Given the description of an element on the screen output the (x, y) to click on. 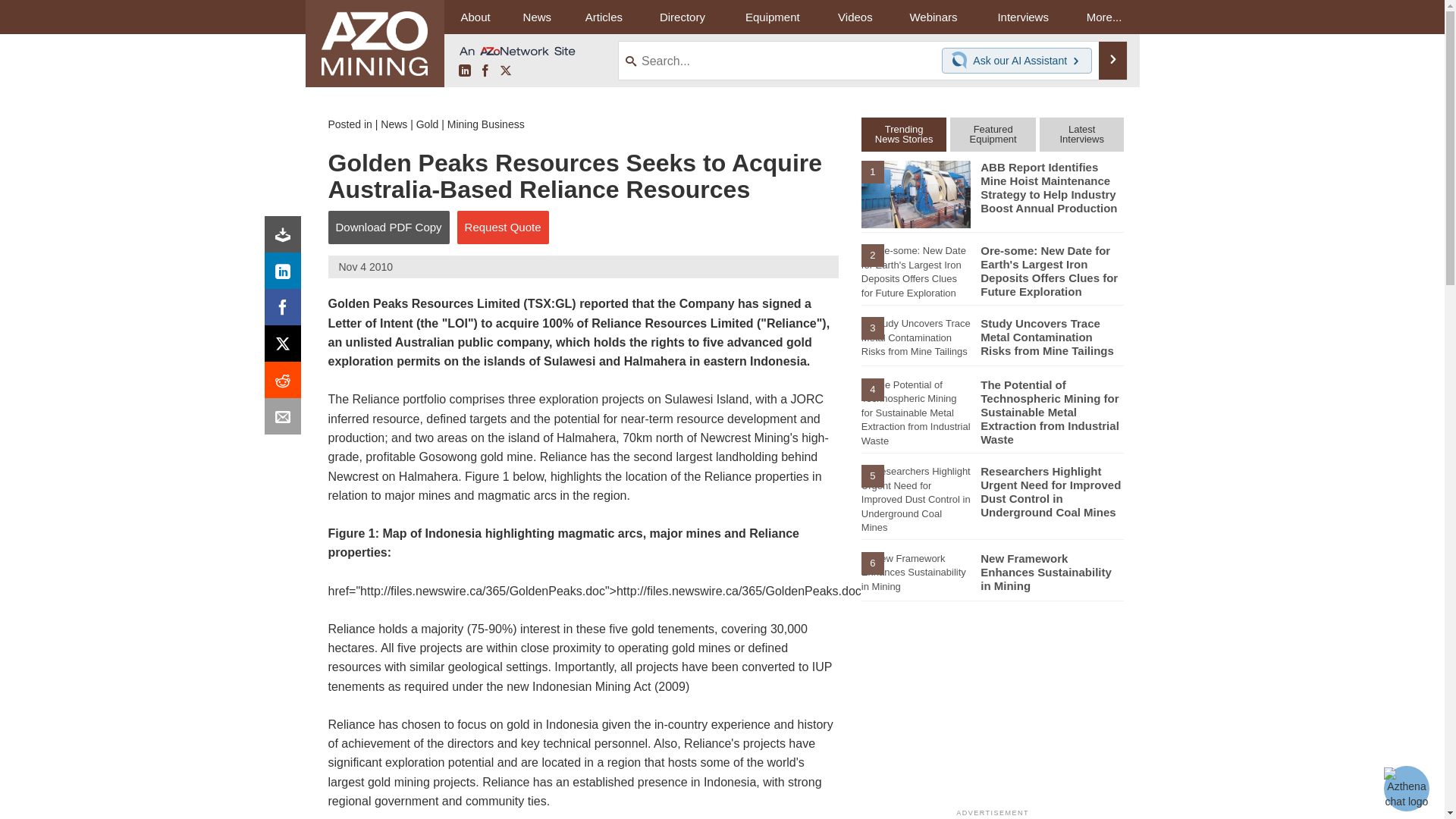
More... (1104, 17)
Email (285, 420)
LinkedIn (464, 71)
Chat with our AI Assistant (962, 60)
Reddit (285, 384)
Videos (855, 17)
X (505, 71)
Facebook (285, 311)
Directory (681, 17)
Gold (427, 123)
Interviews (1022, 17)
Webinars (932, 17)
About (475, 17)
Equipment (772, 17)
